Given the description of an element on the screen output the (x, y) to click on. 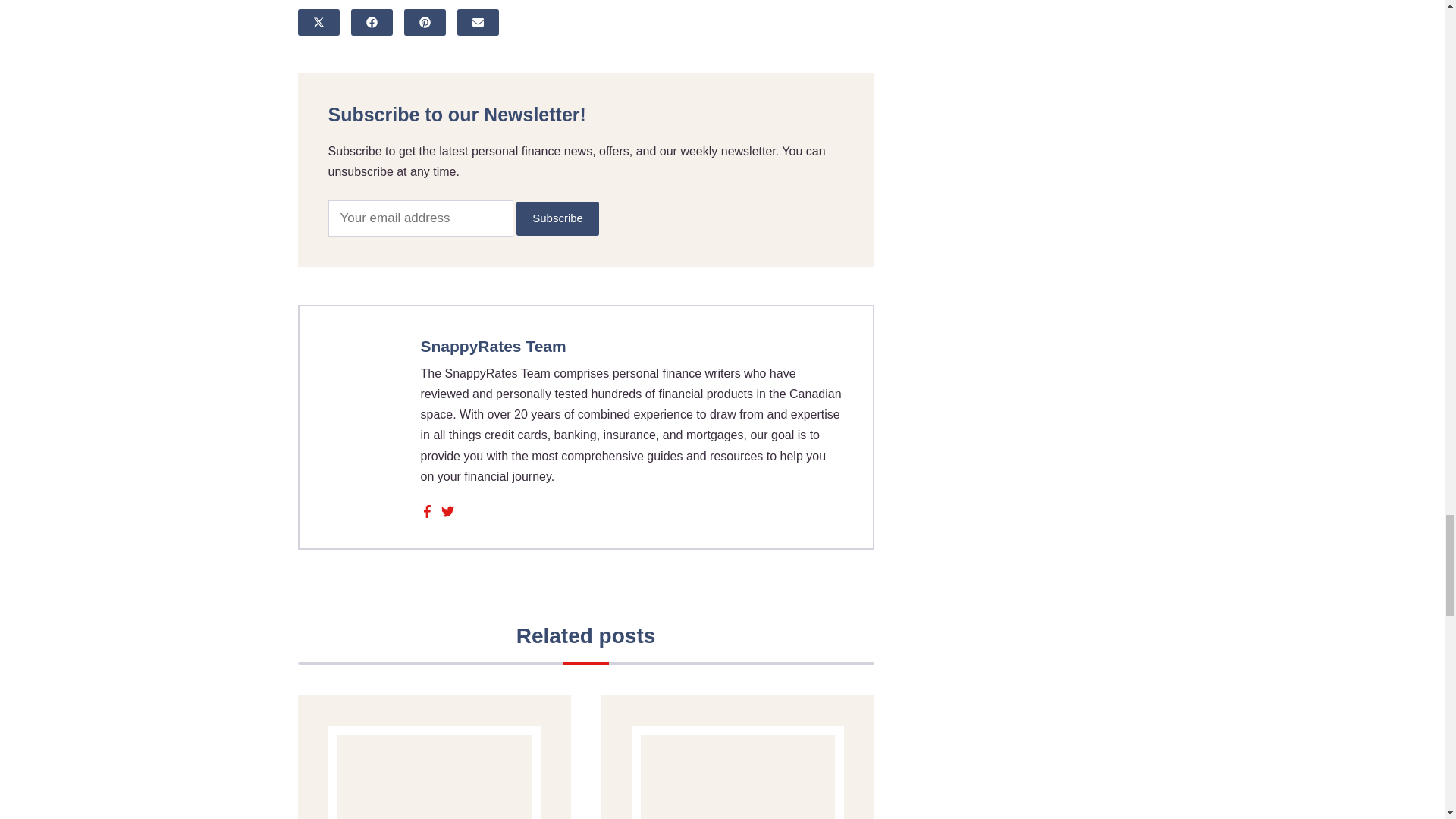
Gravatar for SnappyRates Team (366, 374)
